Given the description of an element on the screen output the (x, y) to click on. 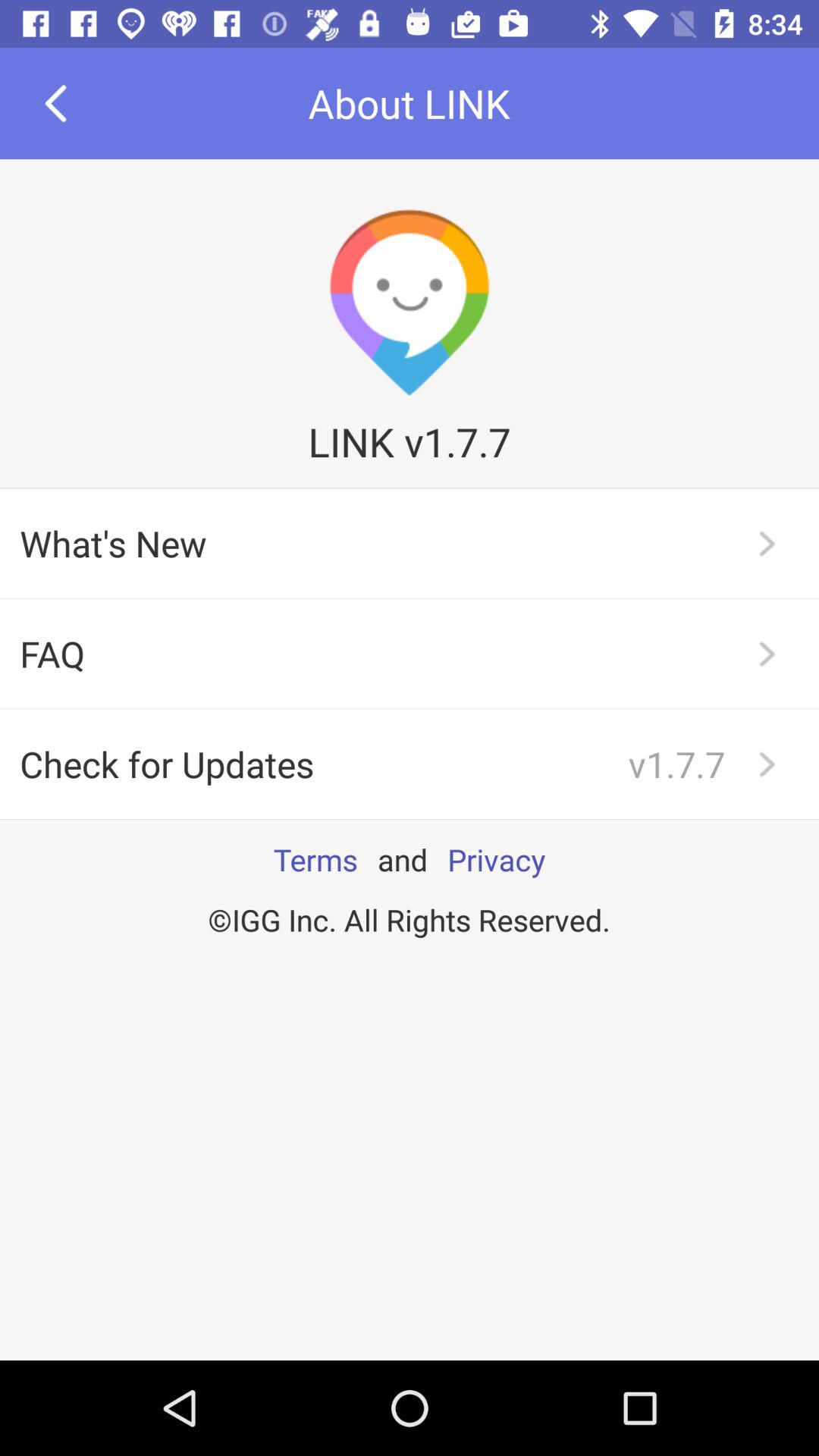
flip to what's new (409, 543)
